Given the description of an element on the screen output the (x, y) to click on. 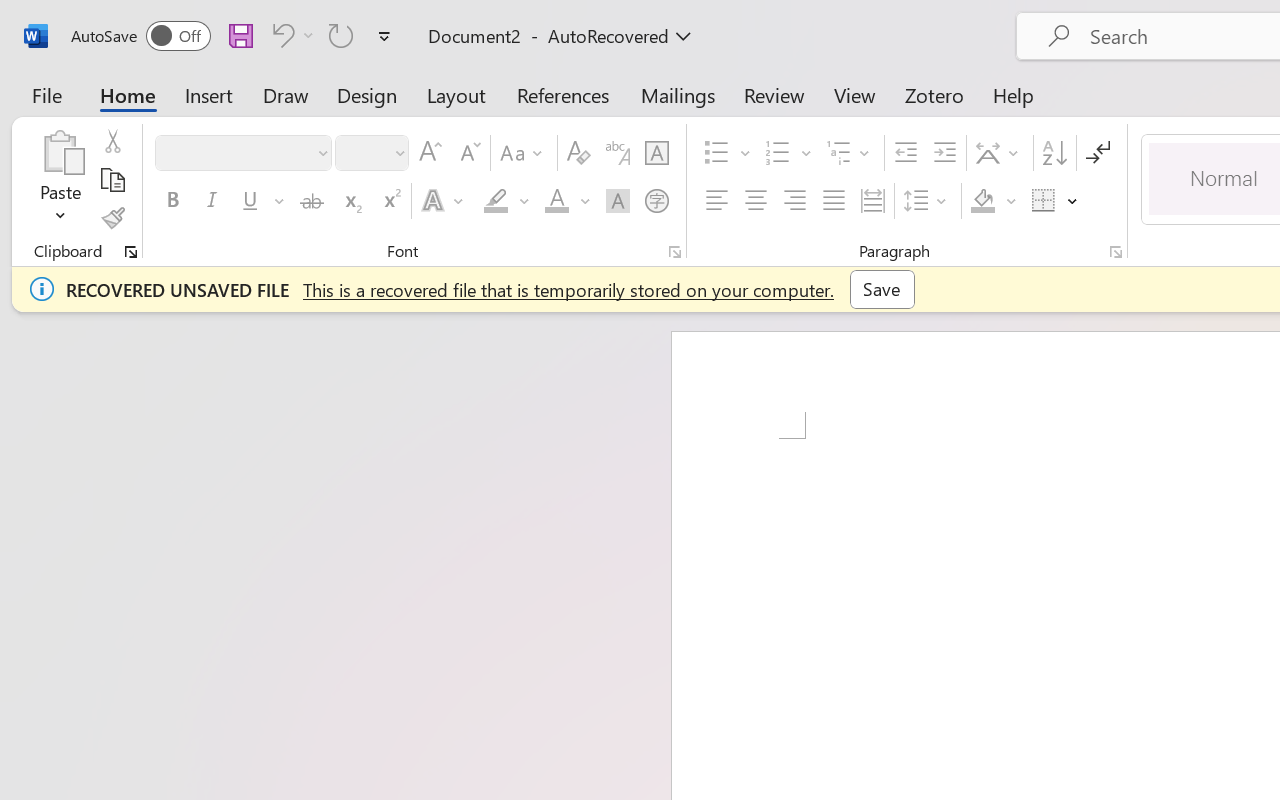
Align Left (716, 201)
Multilevel List (850, 153)
Clear Formatting (578, 153)
Phonetic Guide... (618, 153)
Font... (675, 252)
Copy (112, 179)
Text Effects and Typography (444, 201)
Shading (993, 201)
Bold (172, 201)
